Given the description of an element on the screen output the (x, y) to click on. 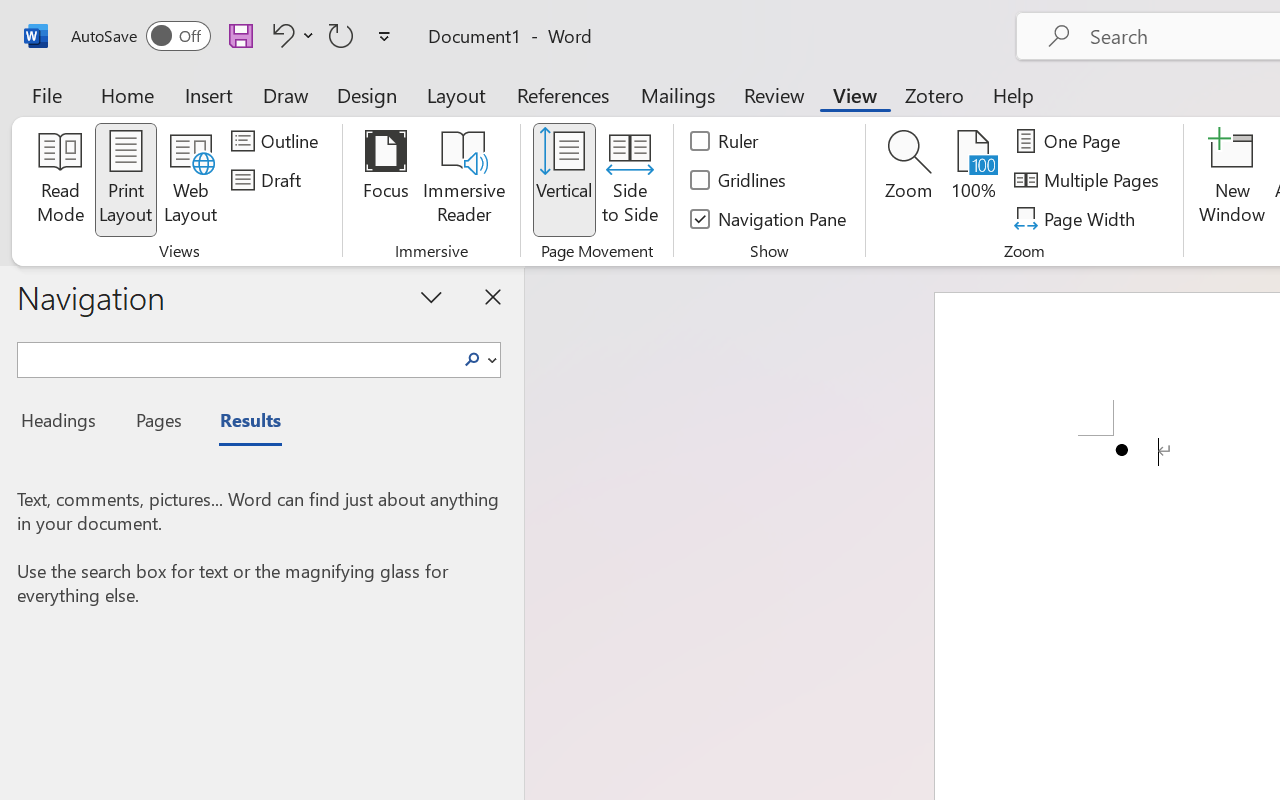
Headings (64, 423)
New Window (1231, 179)
100% (973, 179)
Results (240, 423)
One Page (1070, 141)
Side to Side (630, 179)
